Given the description of an element on the screen output the (x, y) to click on. 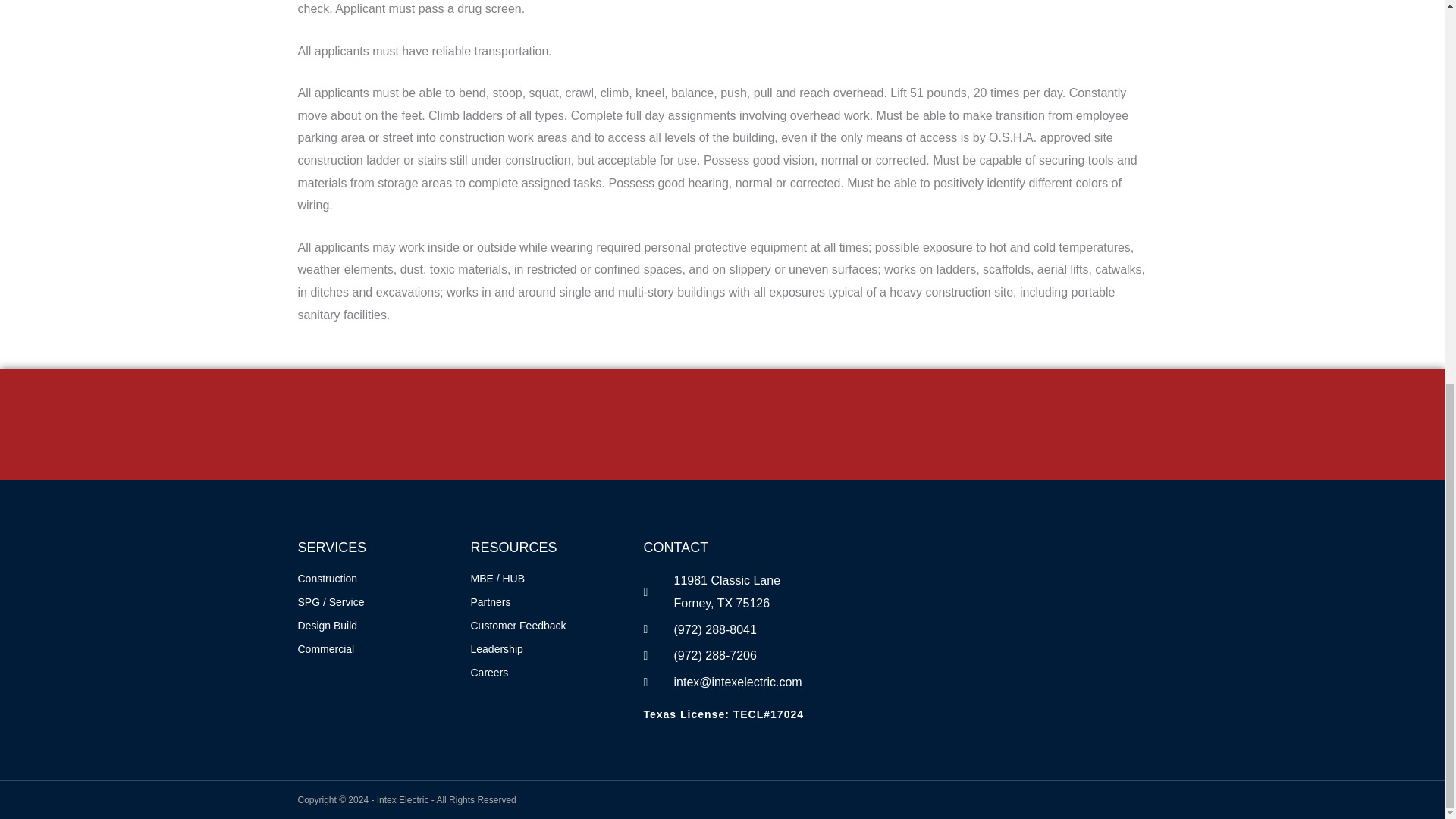
11981 Classic Lane Forney, TX 75126 (972, 625)
